Given the description of an element on the screen output the (x, y) to click on. 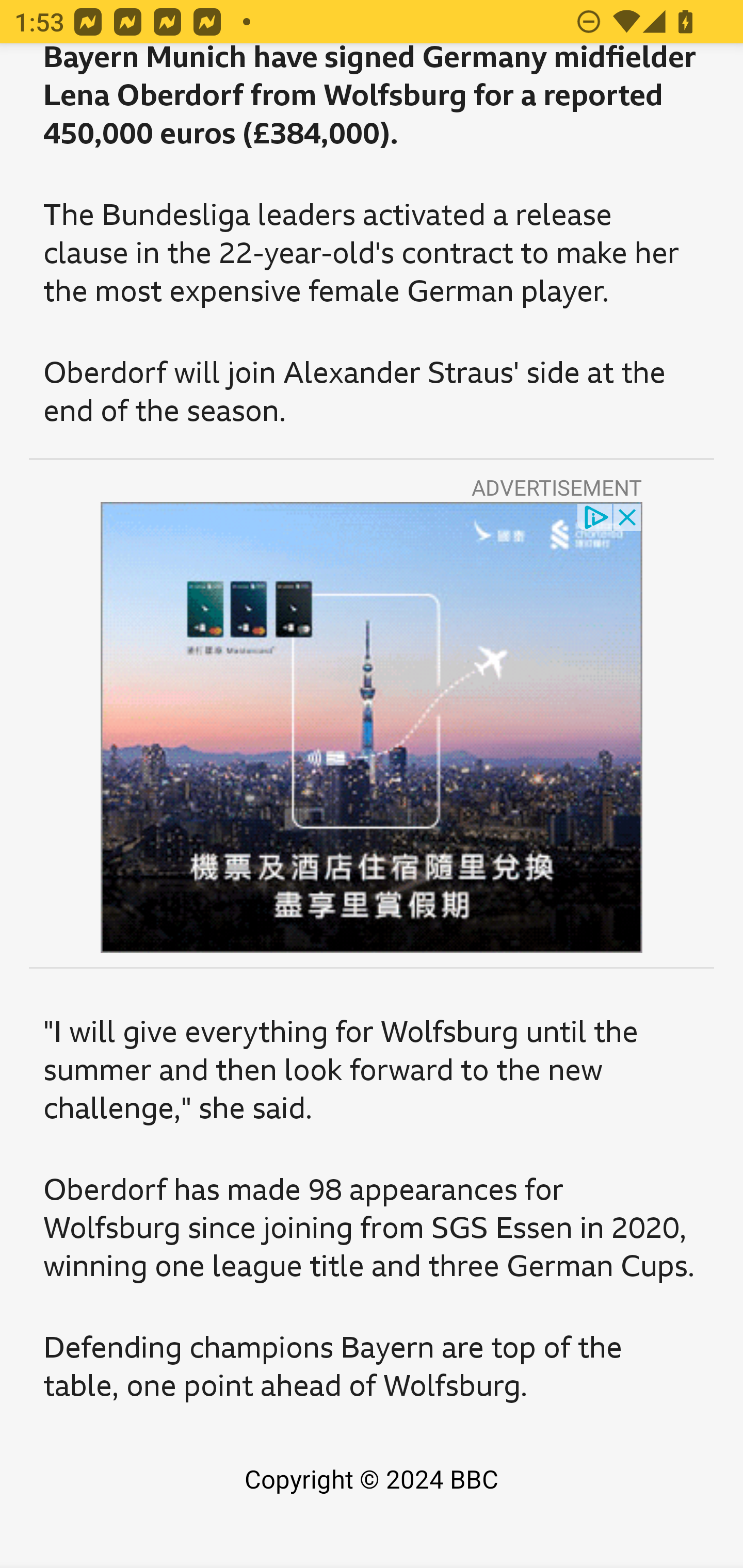
privacy_small (595, 515)
close_button (627, 515)
